Given the description of an element on the screen output the (x, y) to click on. 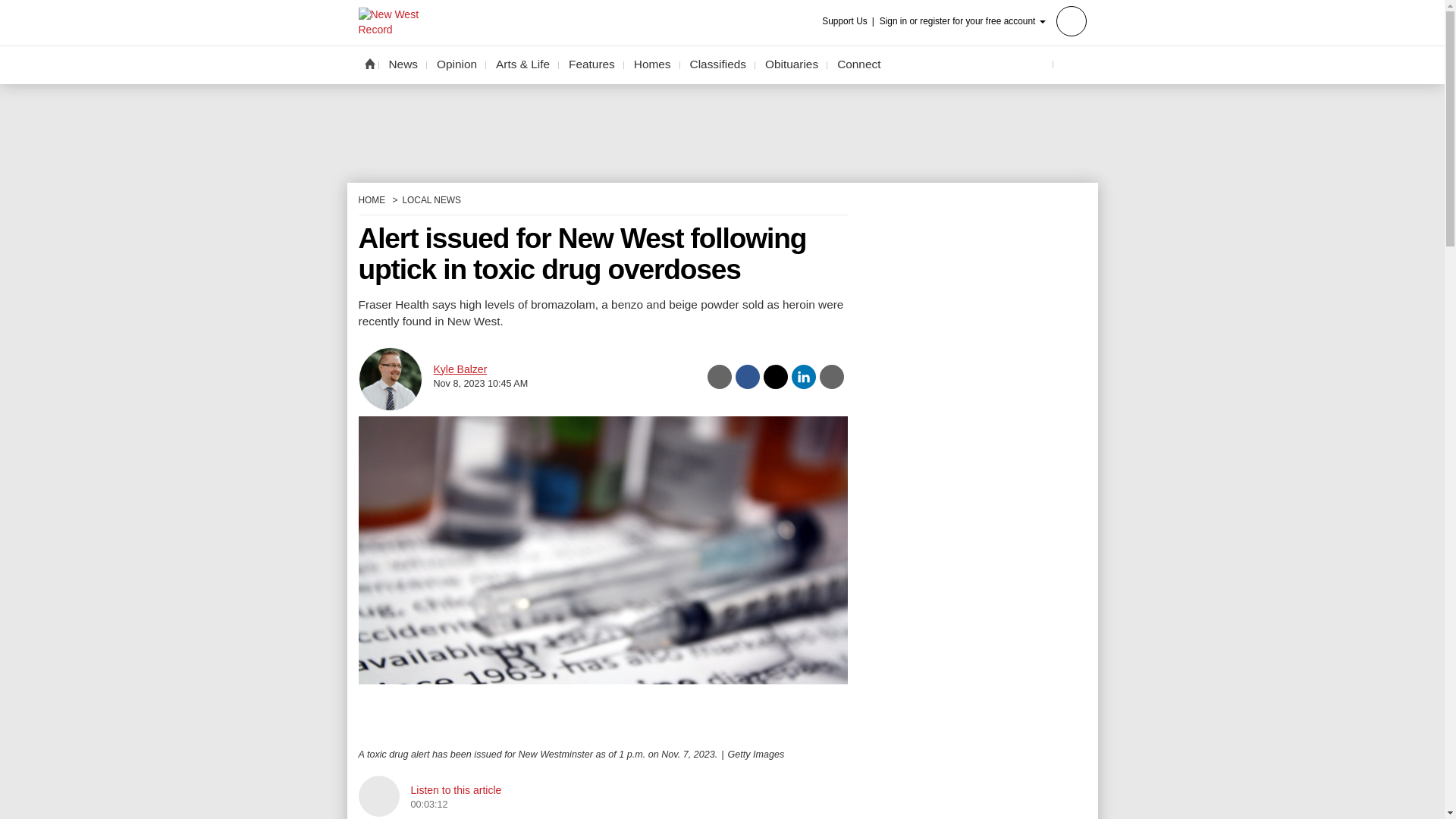
News (403, 64)
Opinion (456, 64)
Home (368, 63)
Sign in or register for your free account (982, 20)
Support Us (849, 21)
